Given the description of an element on the screen output the (x, y) to click on. 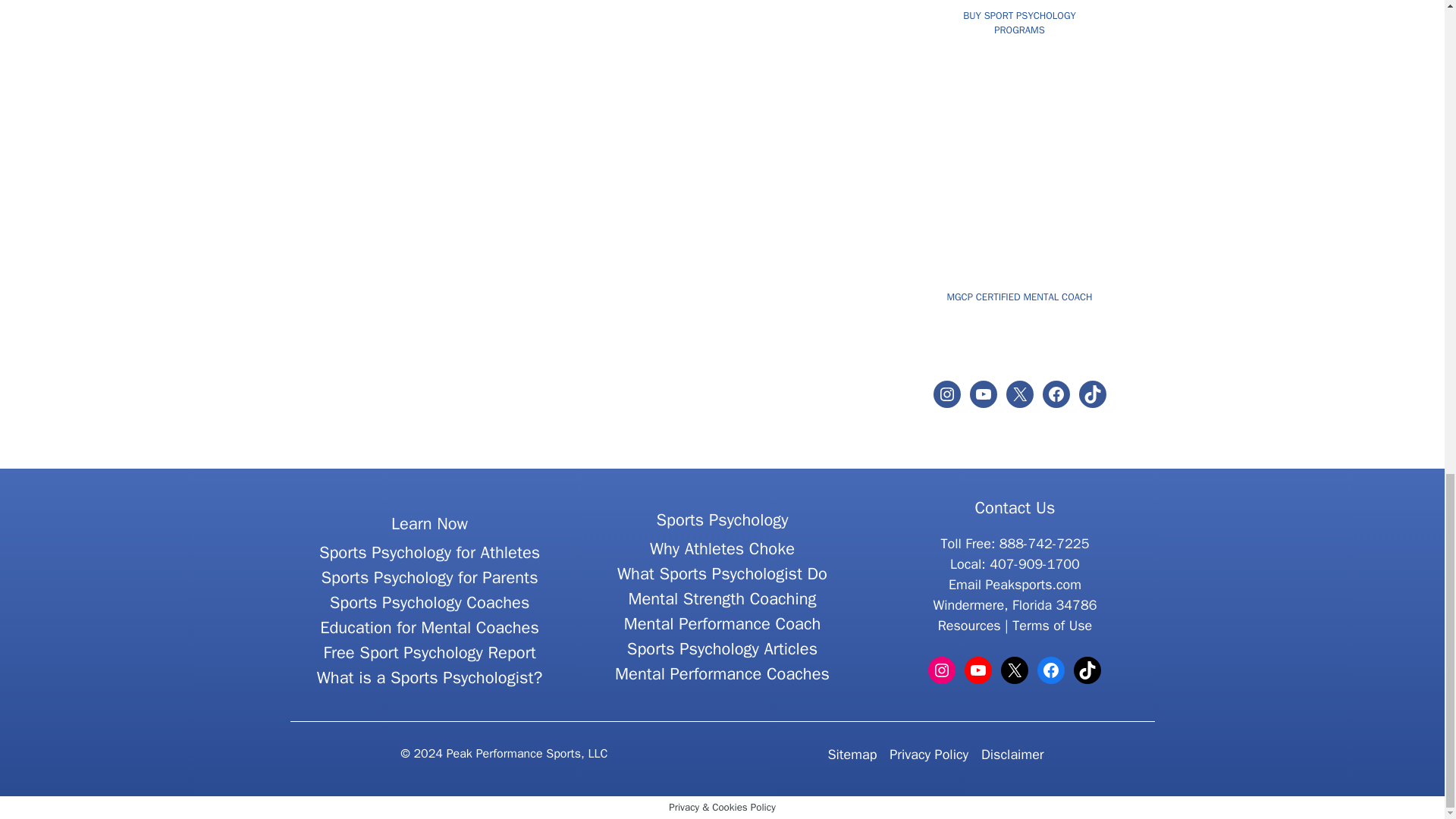
Scroll back to top (1406, 404)
